Given the description of an element on the screen output the (x, y) to click on. 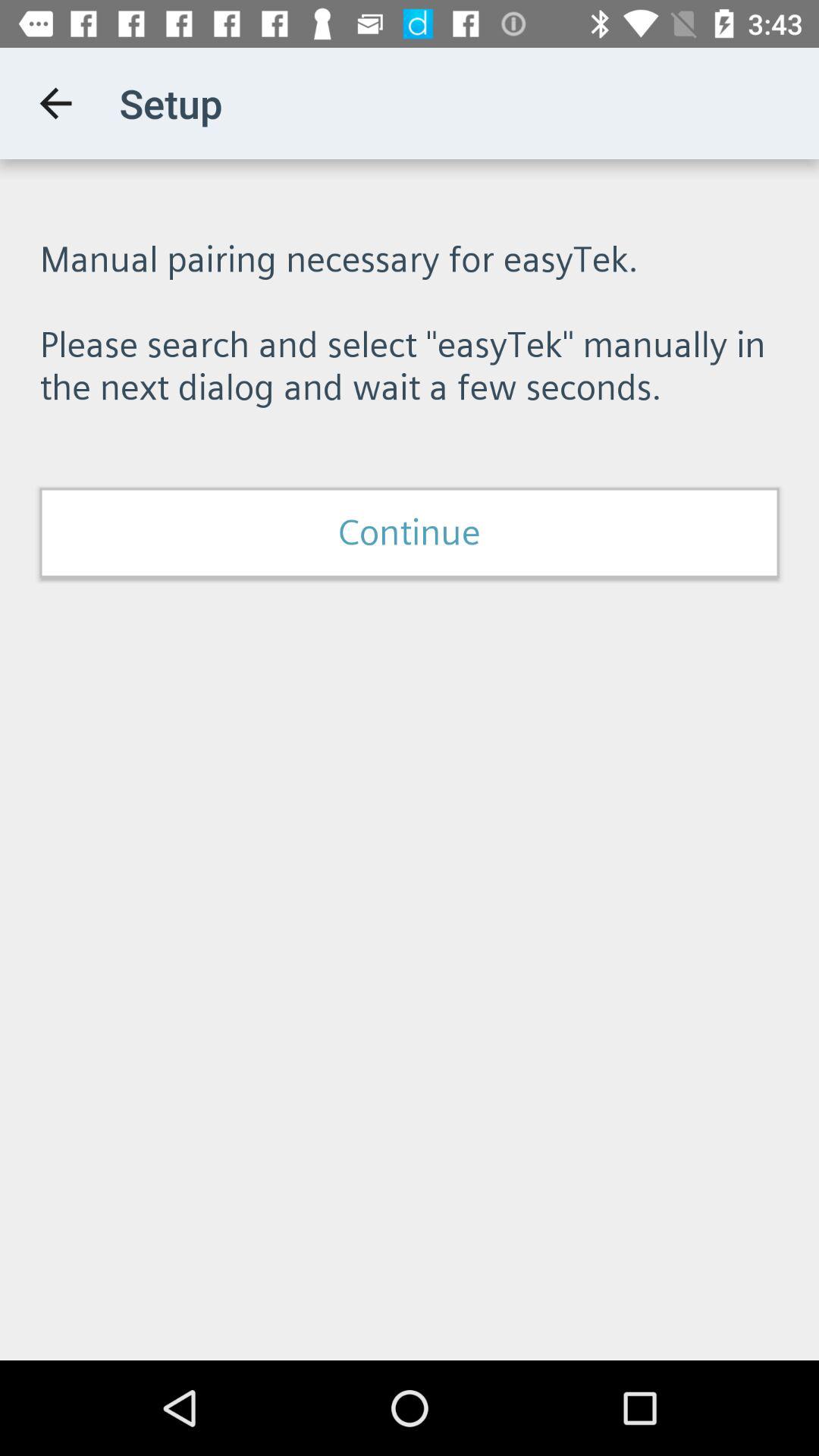
click the icon to the left of the setup (55, 103)
